Given the description of an element on the screen output the (x, y) to click on. 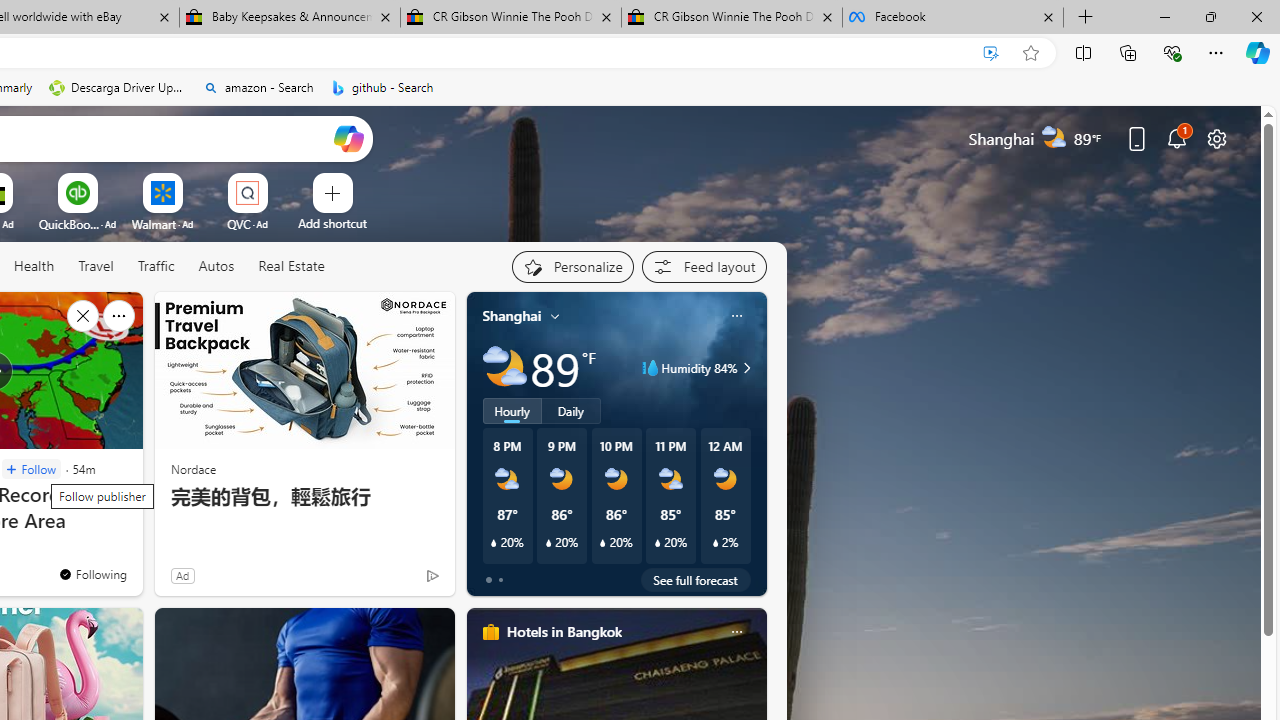
Facebook (953, 17)
Health (33, 267)
hotels-header-icon (490, 632)
Traffic (155, 265)
Add a site (332, 223)
Page settings (1216, 138)
More options (736, 631)
Travel (95, 267)
